Given the description of an element on the screen output the (x, y) to click on. 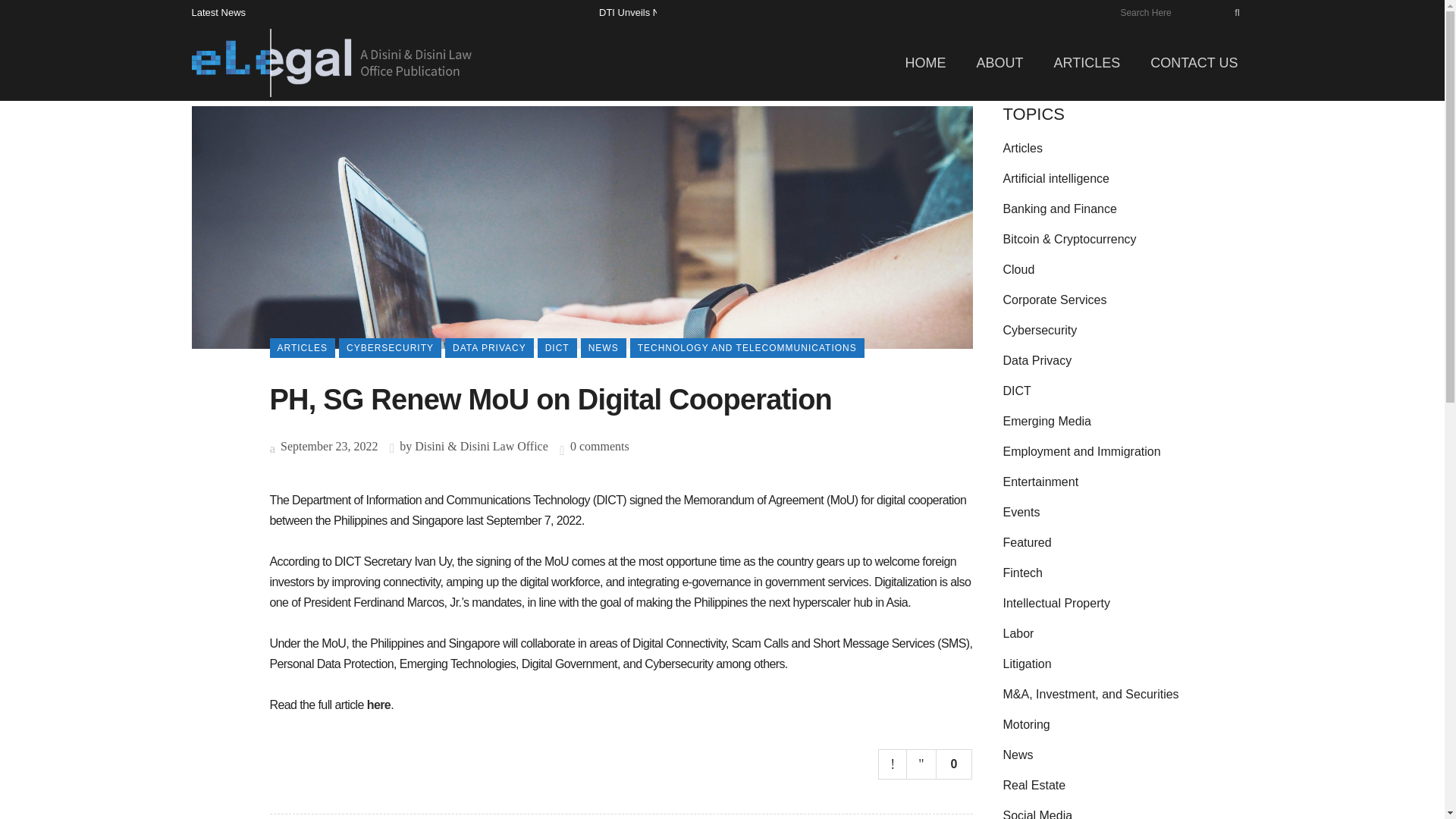
ARTICLES (1086, 62)
HOME (924, 62)
ABOUT (999, 62)
CONTACT US (1193, 62)
Home (924, 62)
